Given the description of an element on the screen output the (x, y) to click on. 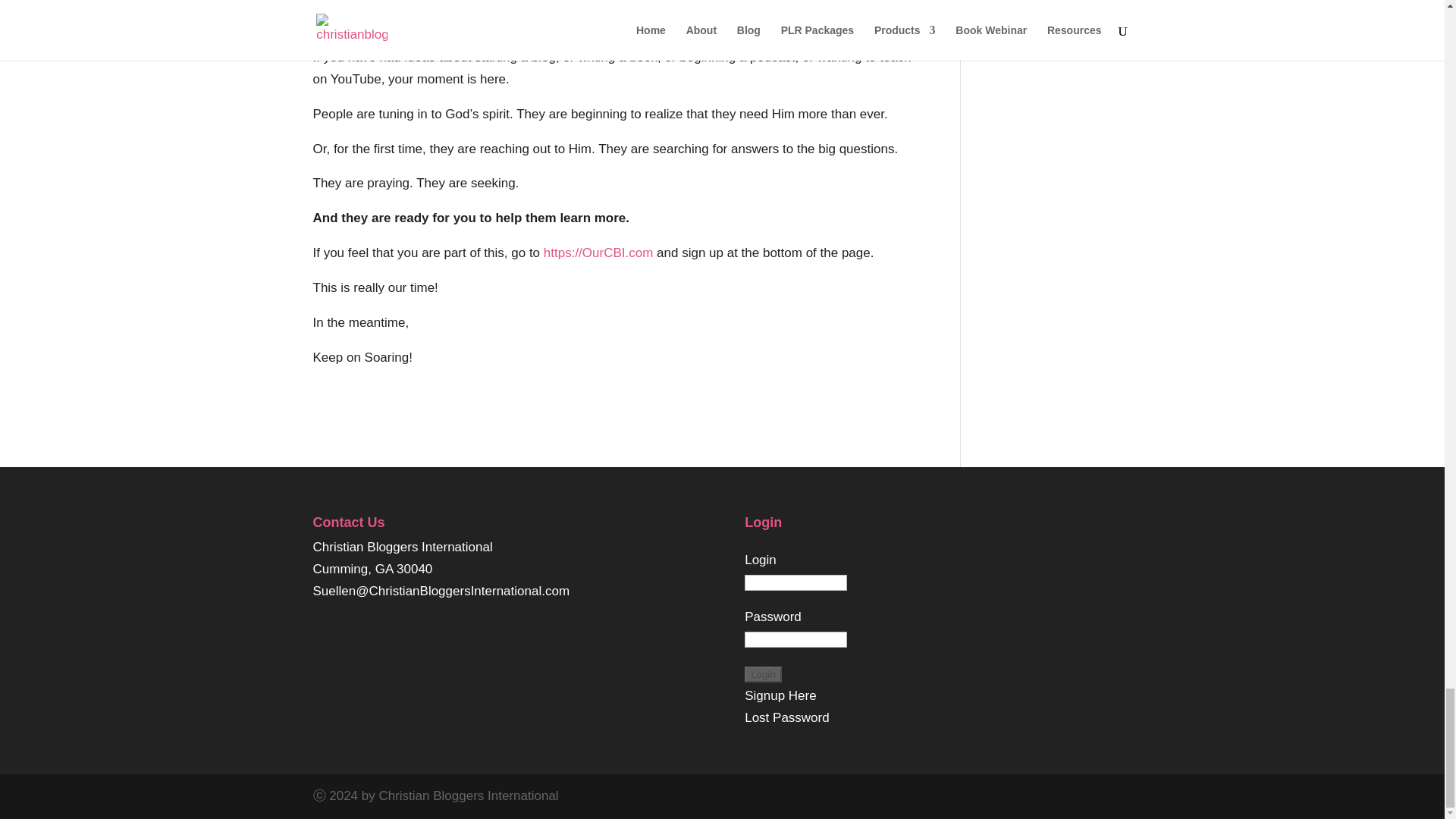
Login (762, 674)
